Given the description of an element on the screen output the (x, y) to click on. 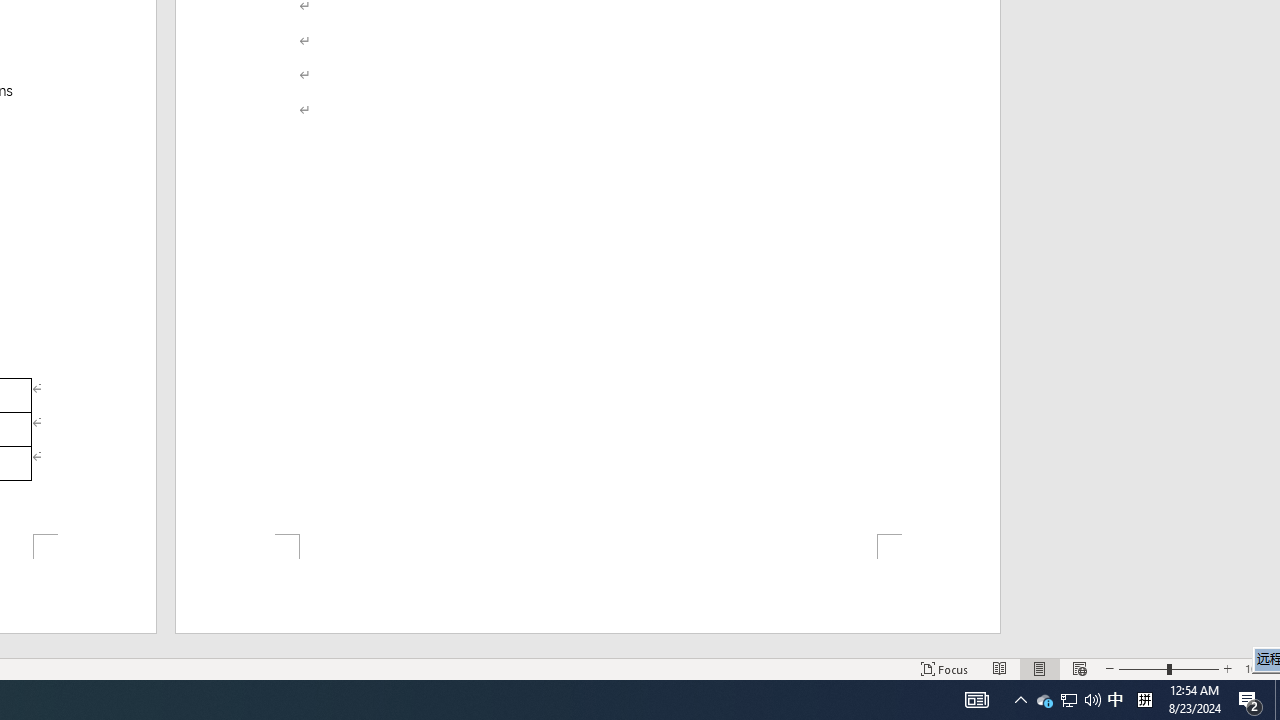
Zoom 104% (1258, 668)
